Given the description of an element on the screen output the (x, y) to click on. 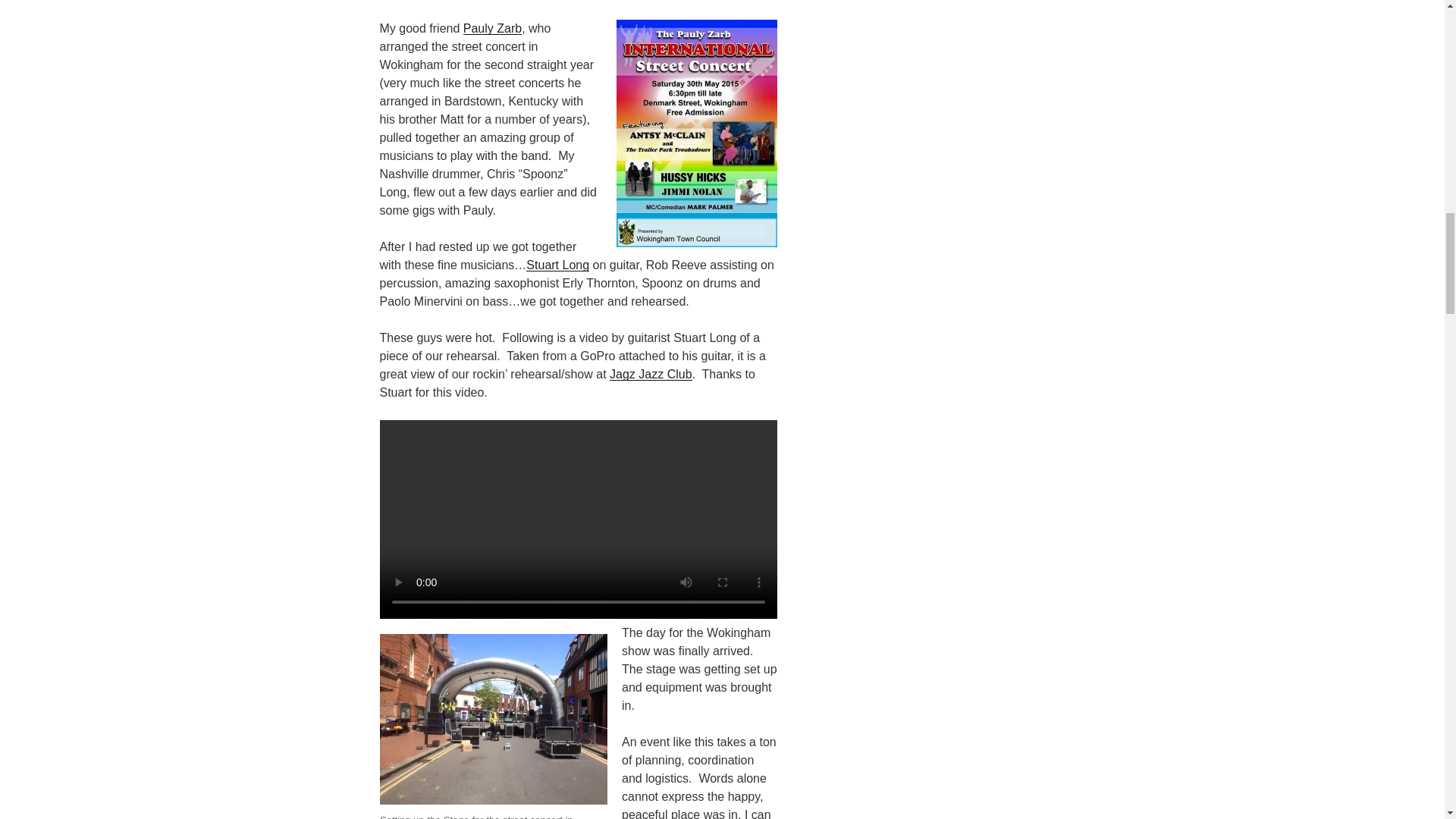
Jagz Jazz Club (651, 373)
Pauly Zarb (492, 28)
Stuart Long (557, 264)
